Given the description of an element on the screen output the (x, y) to click on. 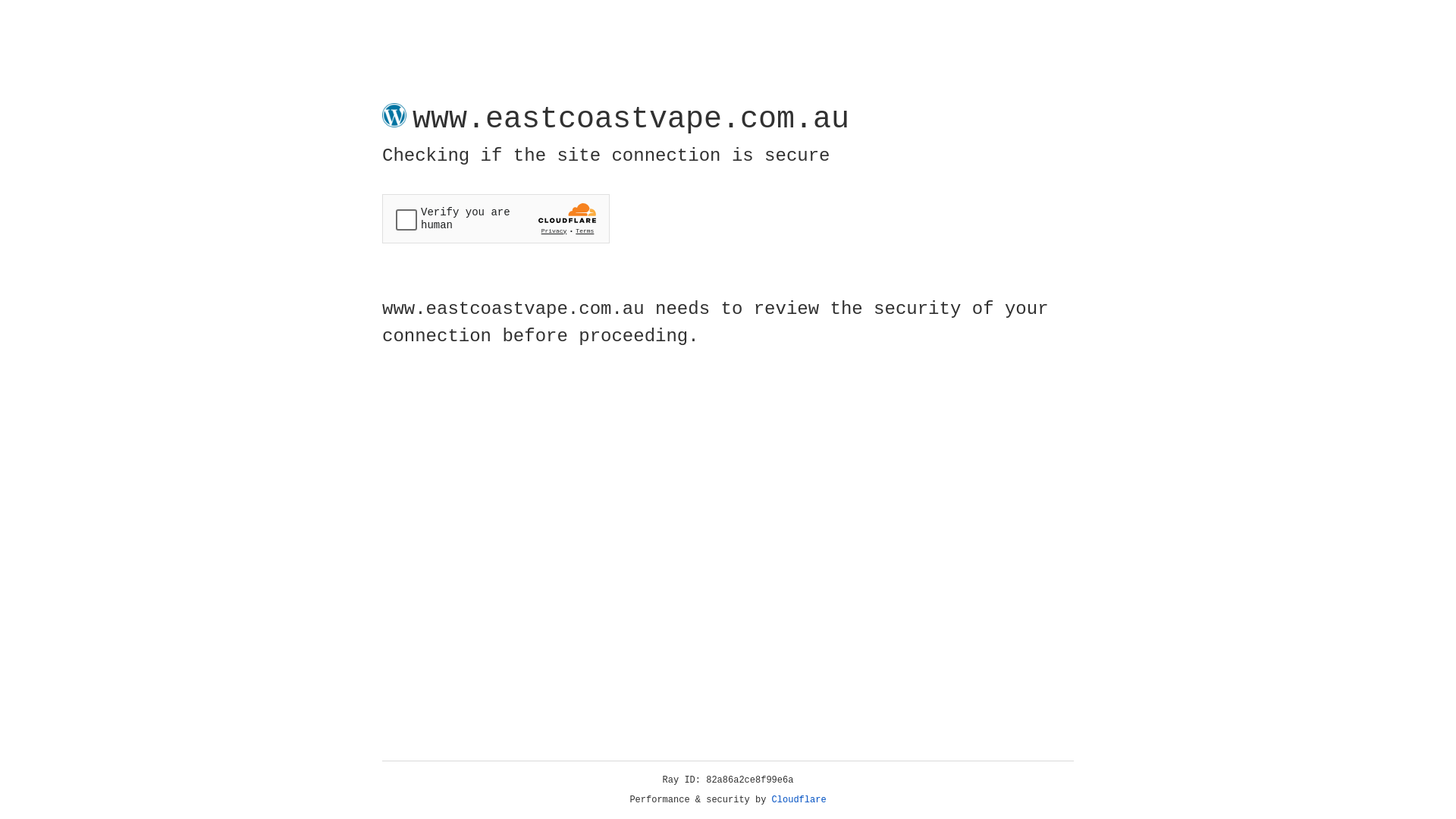
Widget containing a Cloudflare security challenge Element type: hover (495, 218)
Cloudflare Element type: text (798, 799)
